Given the description of an element on the screen output the (x, y) to click on. 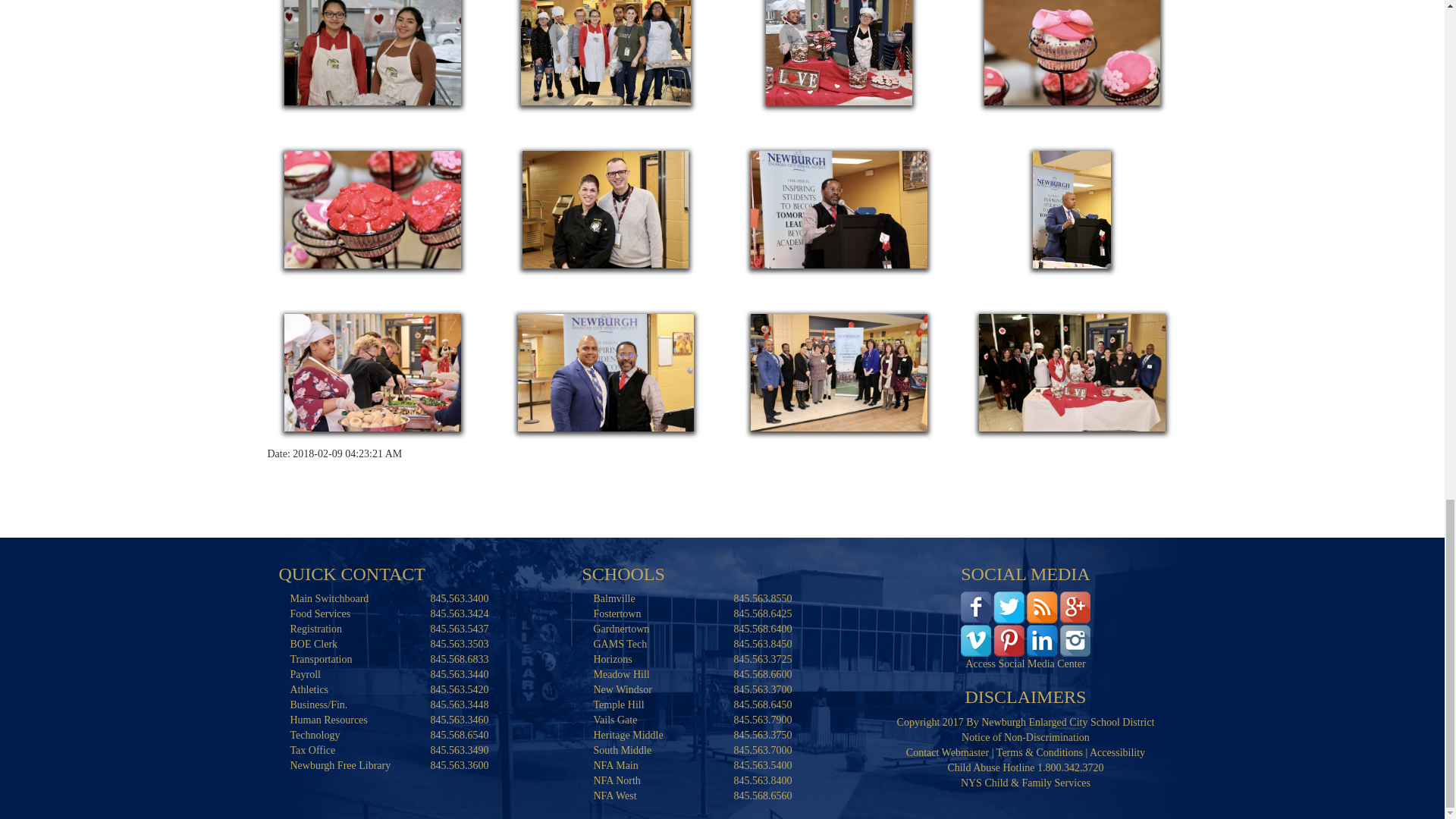
Access Social Media Center (1025, 622)
